Given the description of an element on the screen output the (x, y) to click on. 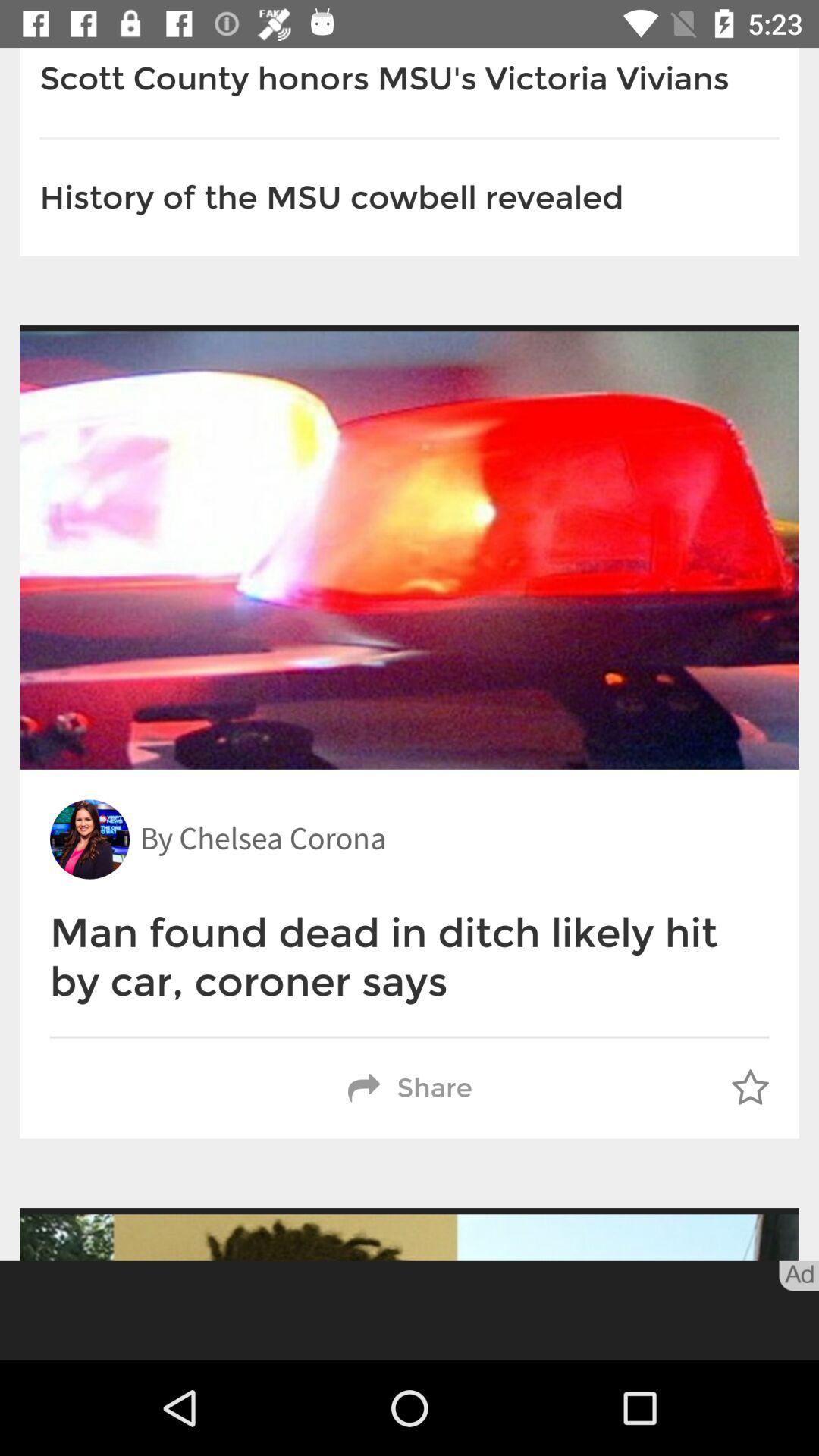
click the icon next to the by chelsea corona (89, 839)
